Given the description of an element on the screen output the (x, y) to click on. 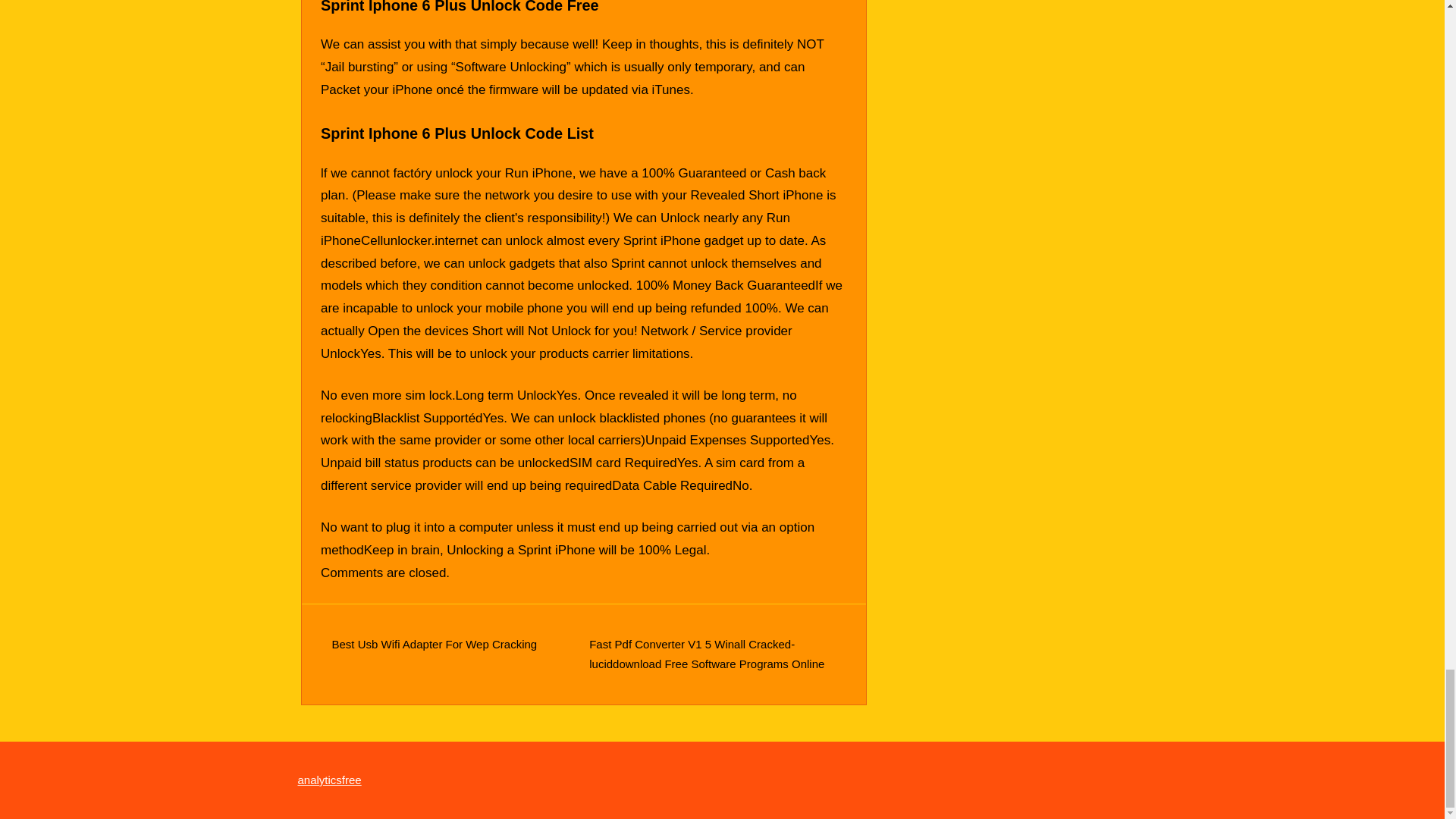
Comments are closed. (384, 572)
Best Usb Wifi Adapter For Wep Cracking (434, 644)
analyticsfree (329, 779)
analyticsfree (329, 779)
